Given the description of an element on the screen output the (x, y) to click on. 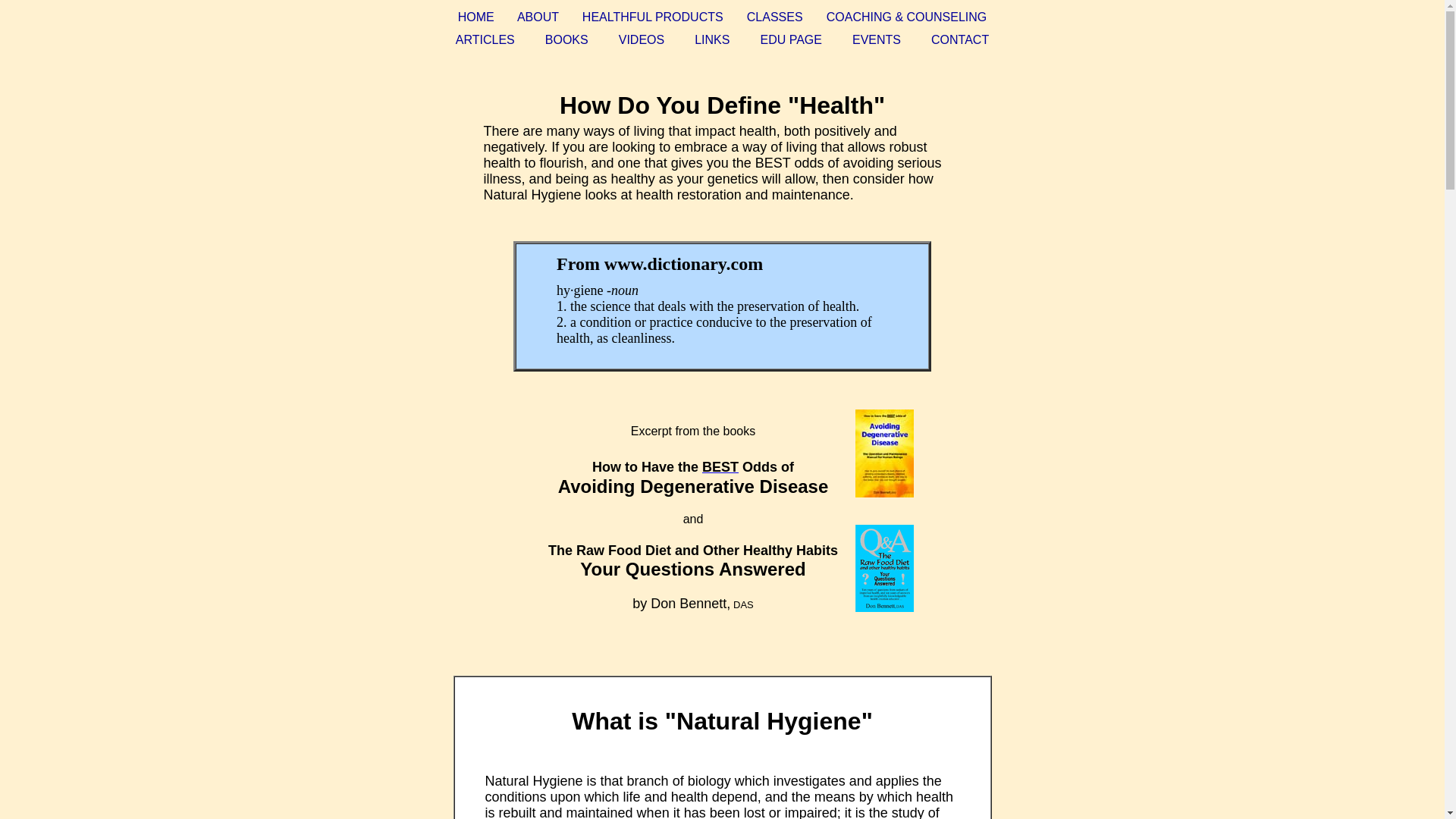
HEALTHFUL PRODUCTS (652, 16)
EVENTS (876, 39)
ABOUT (537, 16)
LINKS (711, 39)
CLASSES (774, 16)
EDU PAGE (791, 39)
ARTICLES (485, 39)
HOME (476, 16)
BOOKS (566, 39)
CONTACT (959, 39)
VIDEOS (640, 39)
BEST (719, 467)
